Given the description of an element on the screen output the (x, y) to click on. 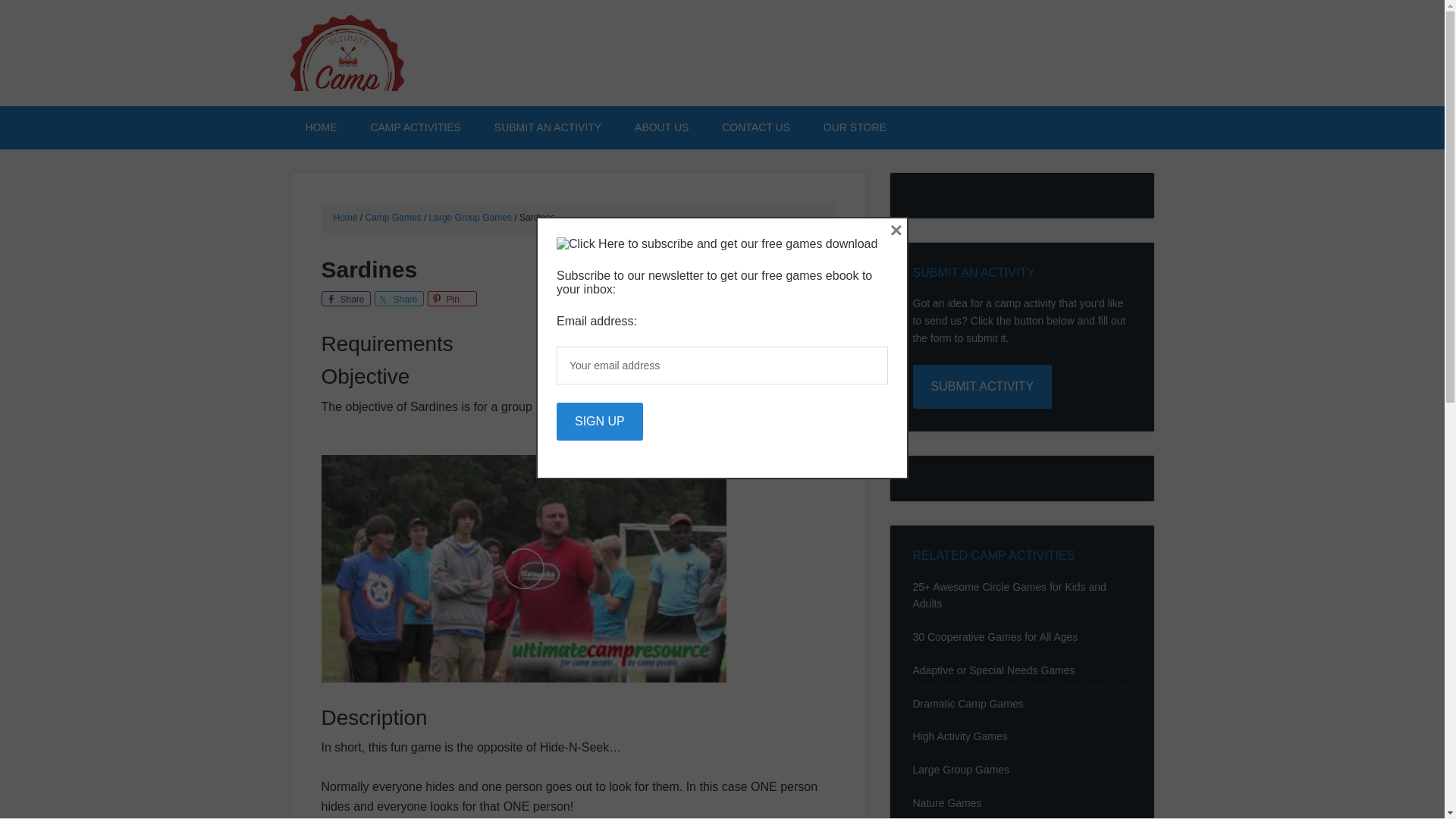
CONTACT US (755, 127)
Sign up (599, 420)
ULTIMATE CAMP RESOURCE (418, 52)
Adaptive or Special Needs Games (993, 670)
Home (345, 217)
Large Group Games (961, 769)
HOME (320, 127)
OUR STORE (854, 127)
SUBMIT AN ACTIVITY (547, 127)
30 Cooperative Games for All Ages (995, 636)
Nature Games (946, 802)
Share (346, 298)
Camp Games (393, 217)
SUBMIT ACTIVITY (982, 386)
